Given the description of an element on the screen output the (x, y) to click on. 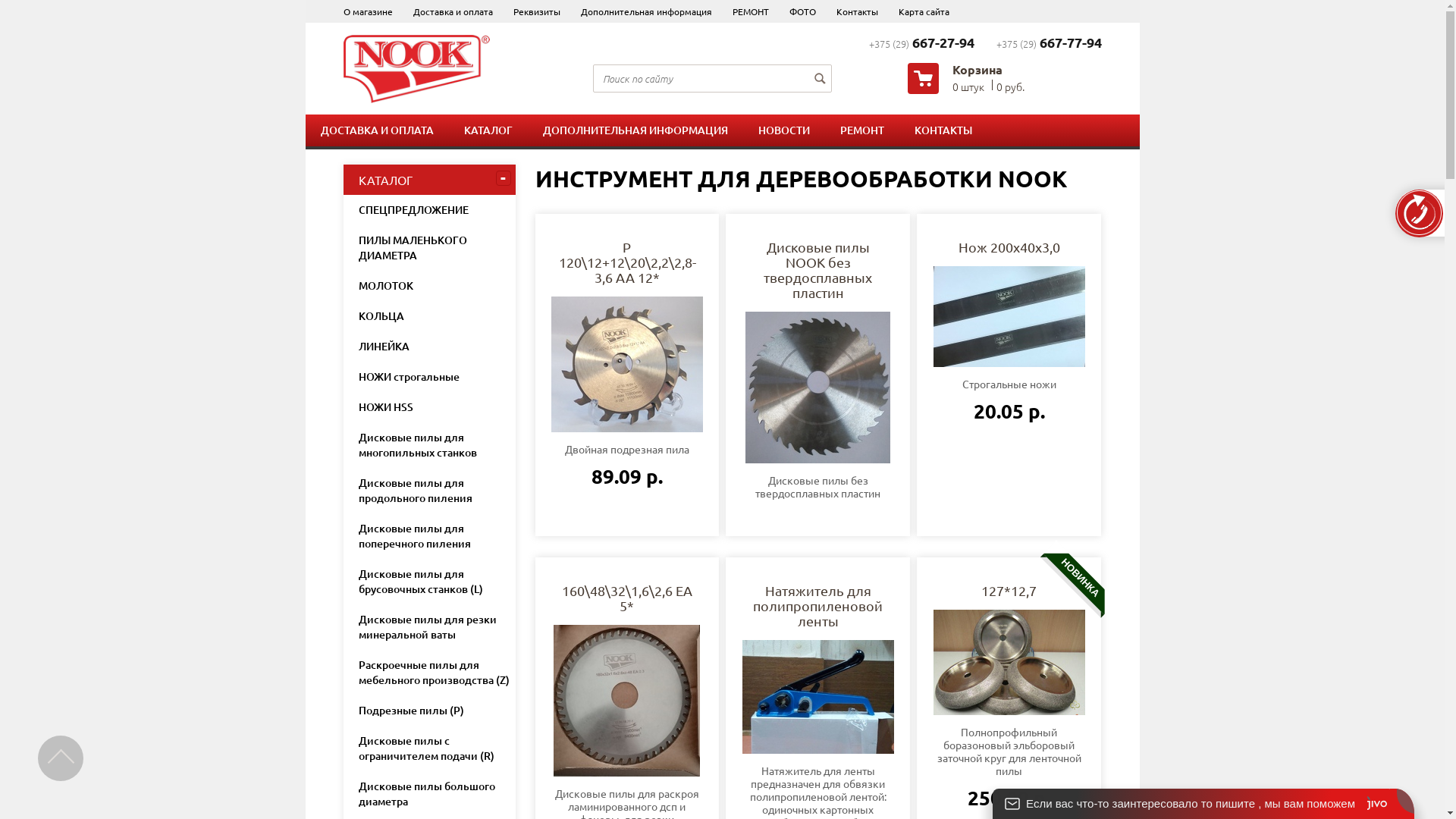
+375 (29)667-77-94 Element type: text (1048, 42)
+375 (29)667-27-94 Element type: text (921, 42)
127*12,7 Element type: hover (1009, 662)
127*12,7 Element type: text (1009, 590)
